Given the description of an element on the screen output the (x, y) to click on. 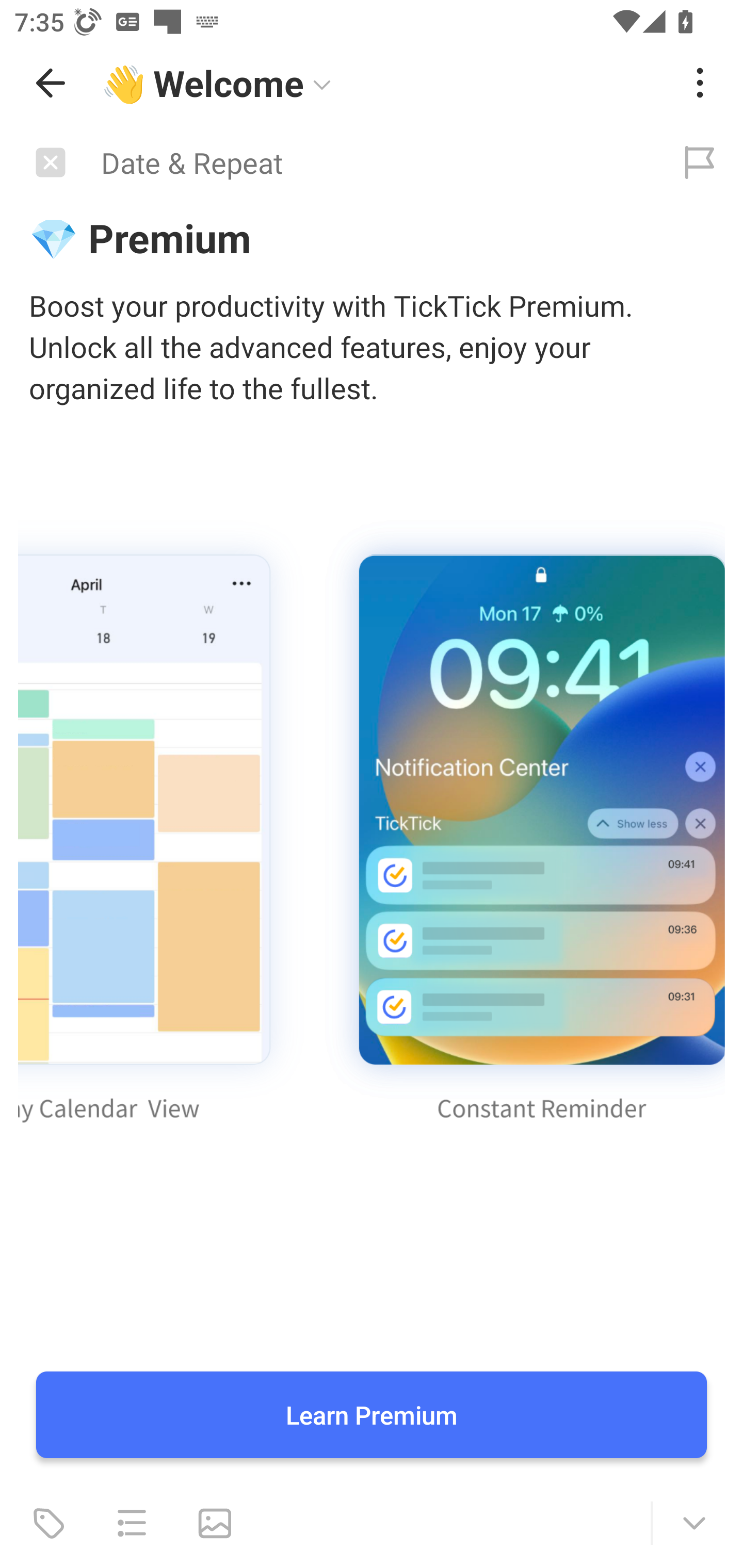
👋 Welcome (384, 82)
Date & Repeat (328, 163)
💎 Premium (371, 237)
Learn Premium (371, 1415)
